Given the description of an element on the screen output the (x, y) to click on. 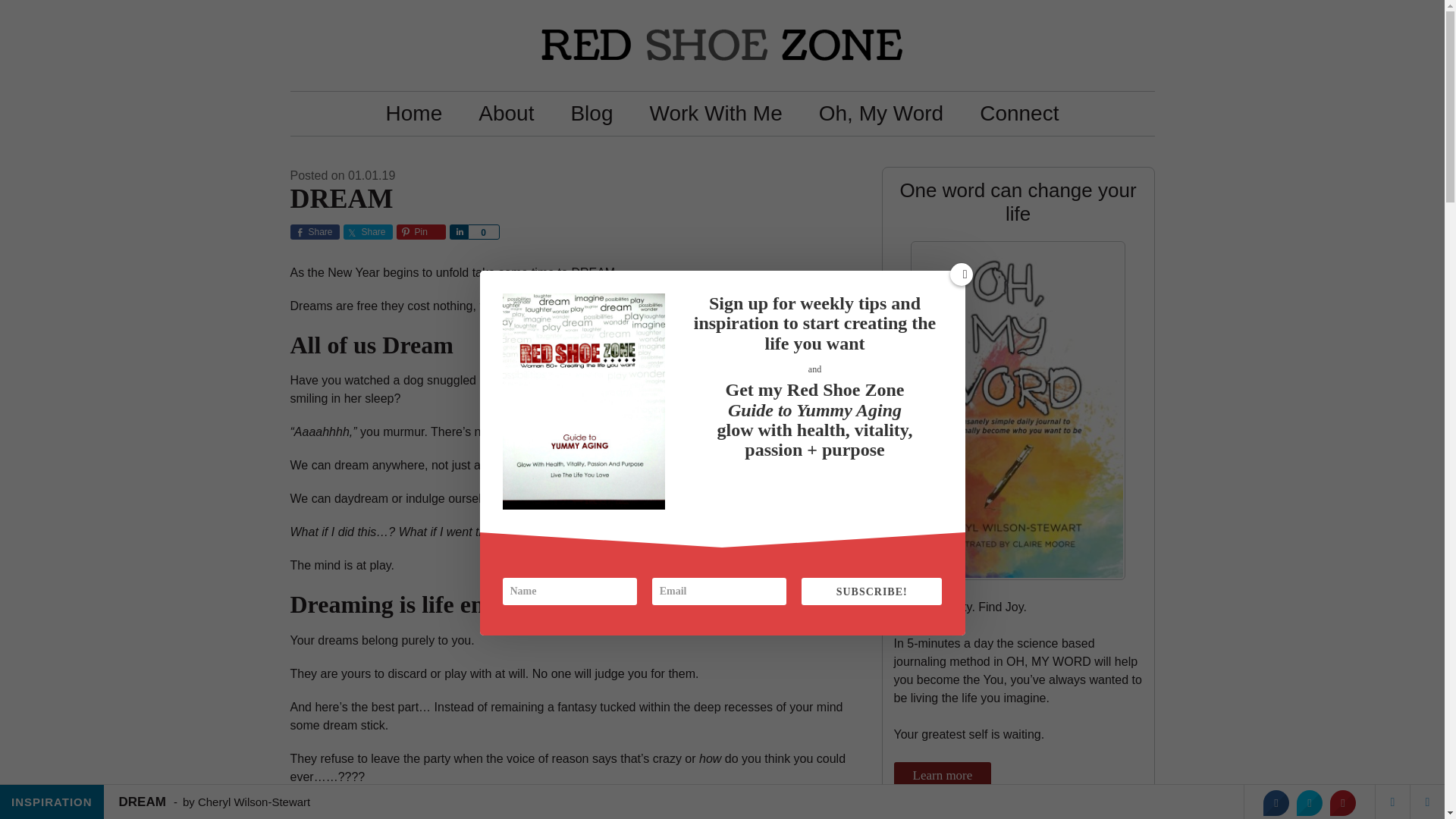
Share on Twitter (1309, 802)
Blog (590, 113)
Work With Me (714, 113)
Home (414, 113)
Share on Facebook (1275, 802)
Share on Pinterest (1342, 802)
Red Shoe Zone (721, 45)
About (505, 113)
